Given the description of an element on the screen output the (x, y) to click on. 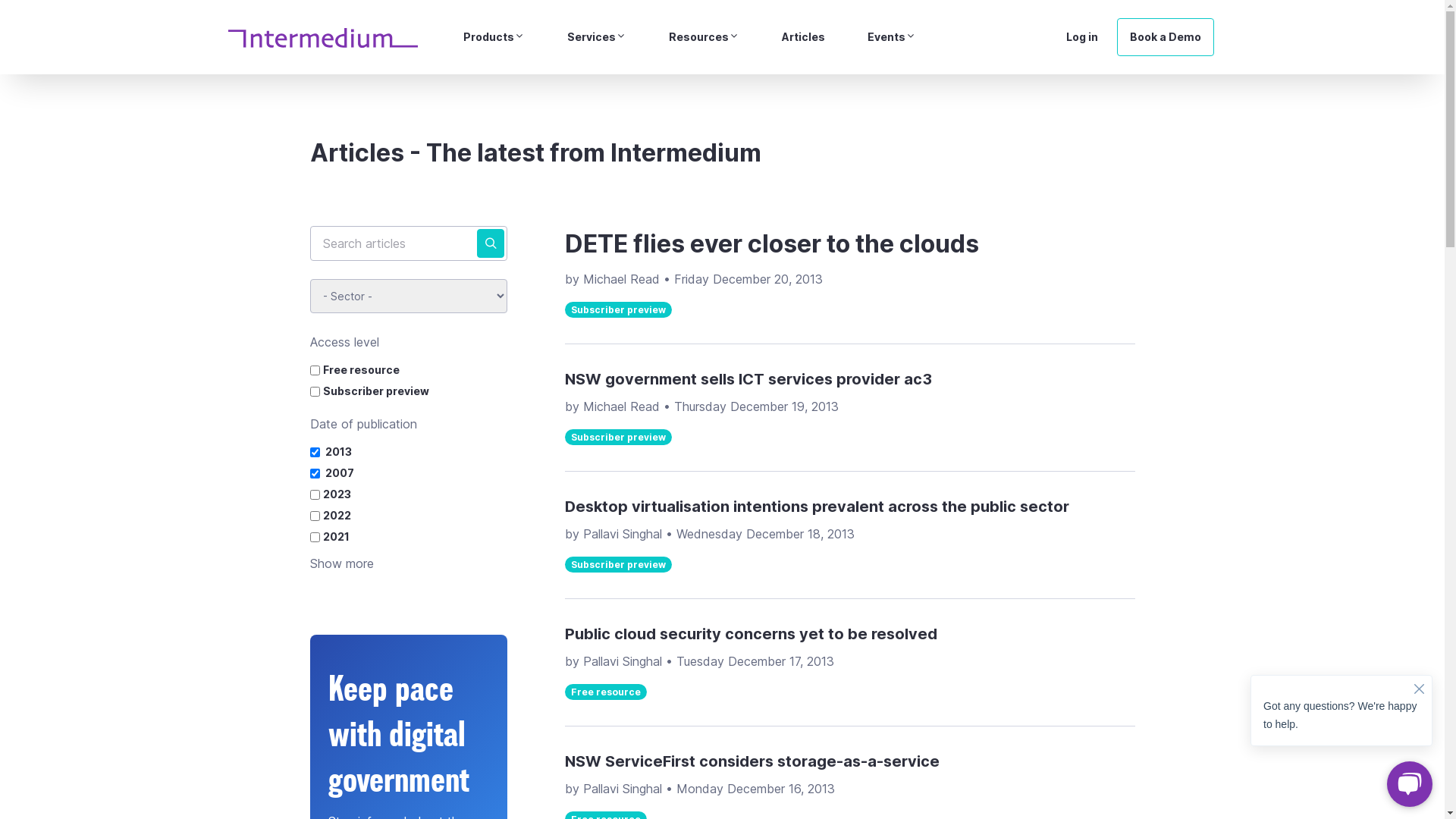
Products Element type: text (493, 36)
Show more Element type: text (341, 563)
Skip to main content Element type: text (0, 0)
Book a Demo Element type: text (1164, 37)
6 Element type: text (489, 243)
Events Element type: text (891, 36)
Services Element type: text (596, 36)
Resources Element type: text (703, 36)
Articles Element type: text (802, 36)
Log in Element type: text (1081, 37)
